Given the description of an element on the screen output the (x, y) to click on. 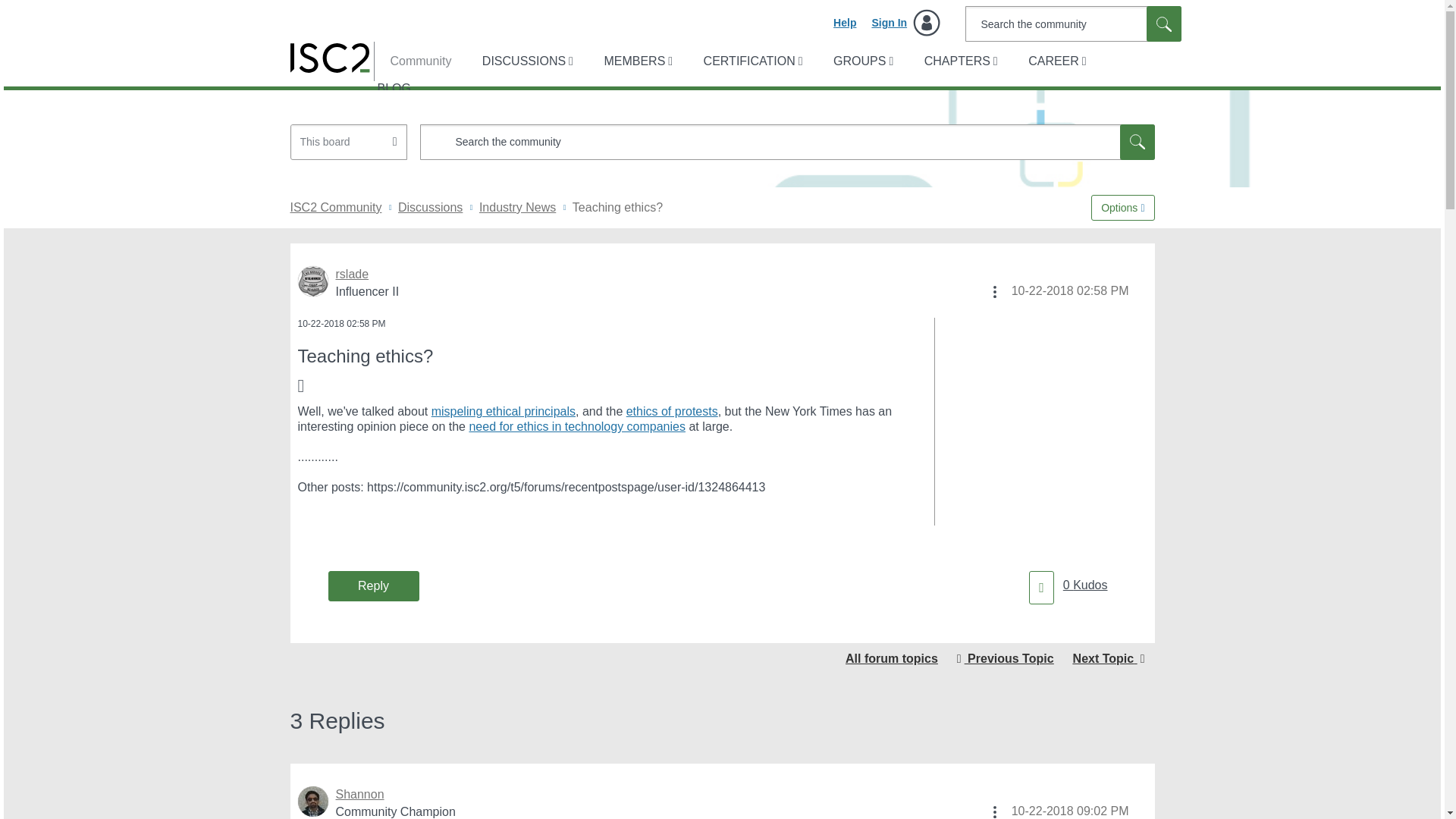
Search (1136, 141)
Sign In (906, 22)
GROUPS (861, 61)
Help (844, 22)
Search Granularity (348, 141)
CERTIFICATION (751, 61)
Search (1071, 23)
MEMBERS (635, 61)
Community (412, 61)
Search (1163, 23)
DISCUSSIONS (526, 61)
Search (1163, 23)
Search (1136, 141)
Search (787, 141)
Search (1163, 23)
